Given the description of an element on the screen output the (x, y) to click on. 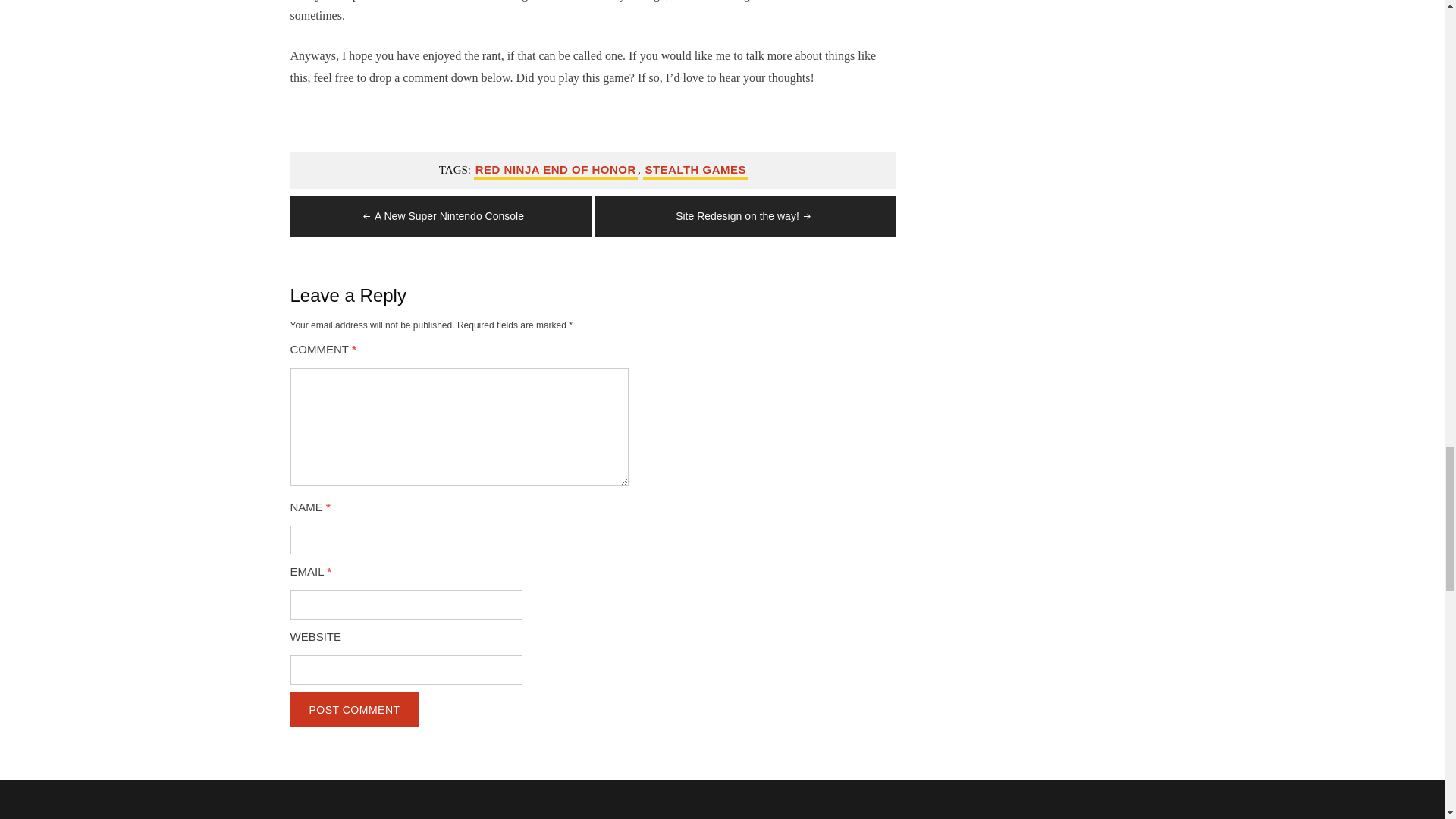
Post Comment (354, 710)
